Given the description of an element on the screen output the (x, y) to click on. 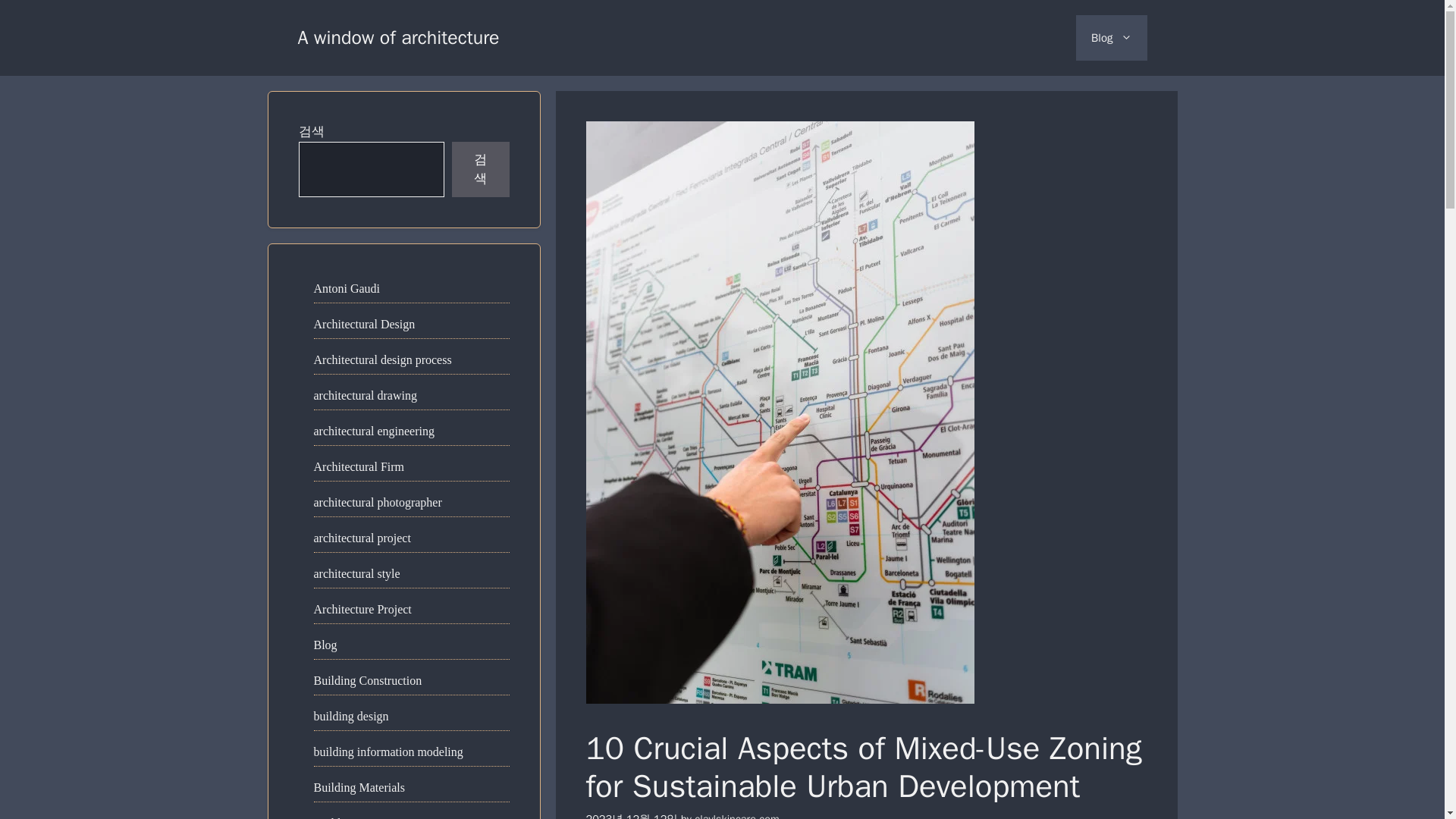
Architectural Design (364, 323)
View all posts by claylskincare.com (736, 815)
Architectural Firm (359, 465)
architectural project (362, 536)
architectural drawing (365, 394)
A window of architecture (398, 37)
architectural engineering (373, 431)
claylskincare.com (736, 815)
Antoni Gaudi (347, 287)
Architectural design process (382, 359)
Blog (1111, 37)
architectural photographer (378, 502)
